Given the description of an element on the screen output the (x, y) to click on. 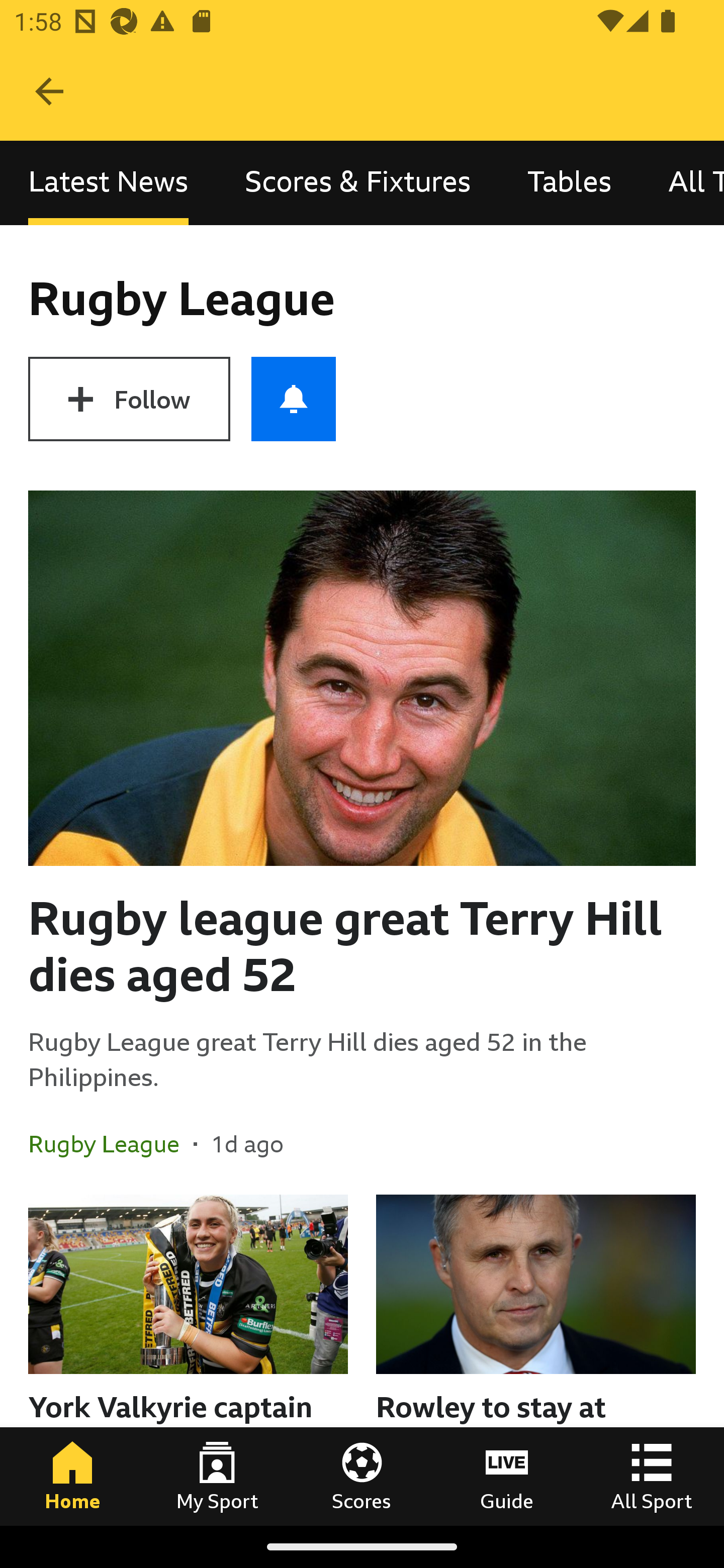
Navigate up (49, 91)
Latest News, selected Latest News (108, 183)
Scores & Fixtures (357, 183)
Tables (569, 183)
Follow Rugby League Follow (129, 398)
Push notifications for Rugby League (293, 398)
My Sport (216, 1475)
Scores (361, 1475)
Guide (506, 1475)
All Sport (651, 1475)
